Given the description of an element on the screen output the (x, y) to click on. 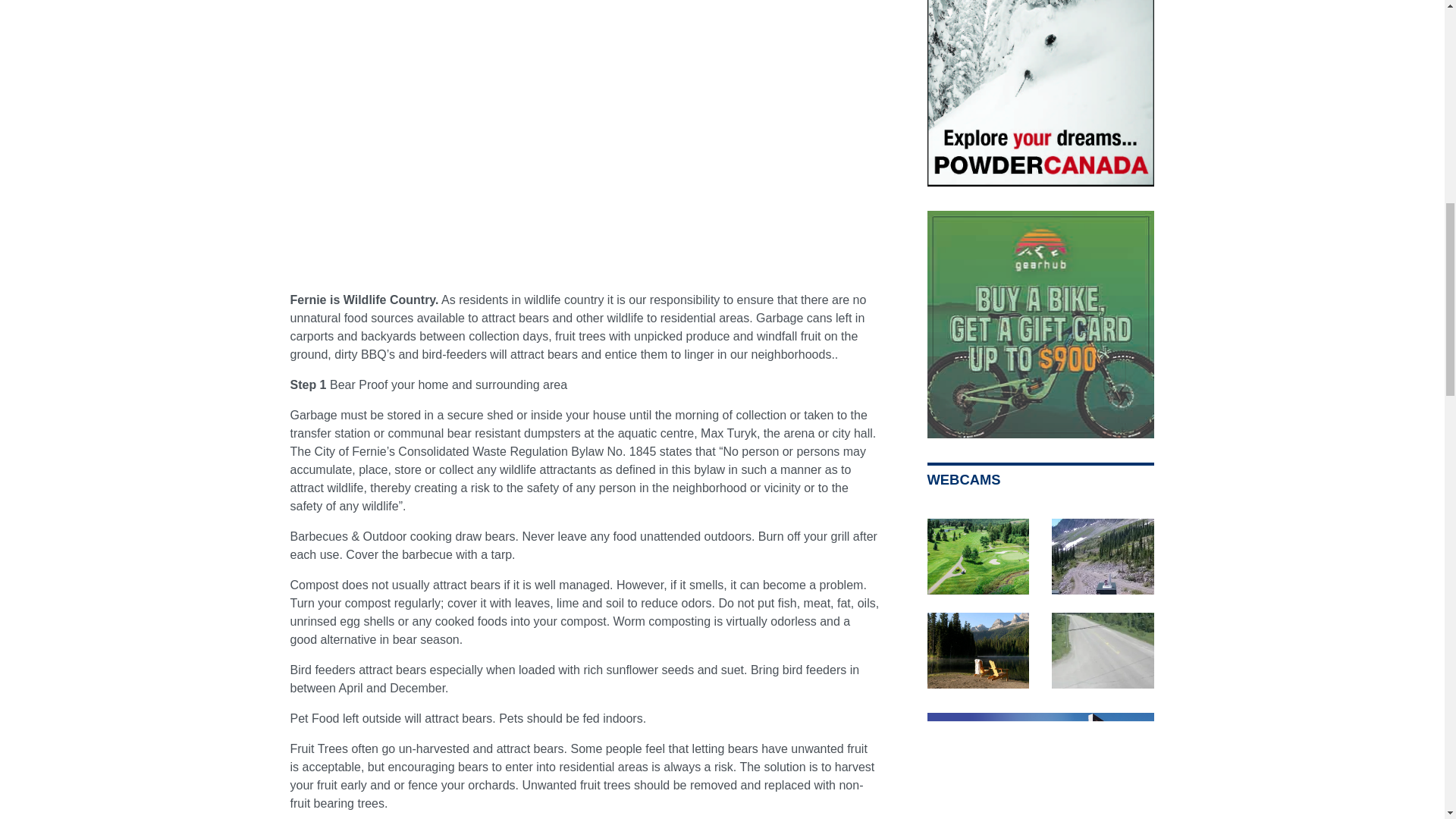
Island Lake Lodge (977, 650)
Fernie Golf Club Webcam (977, 556)
Highway Webcams (1102, 650)
Fernie Alpine Resort Webcams (1102, 556)
